Given the description of an element on the screen output the (x, y) to click on. 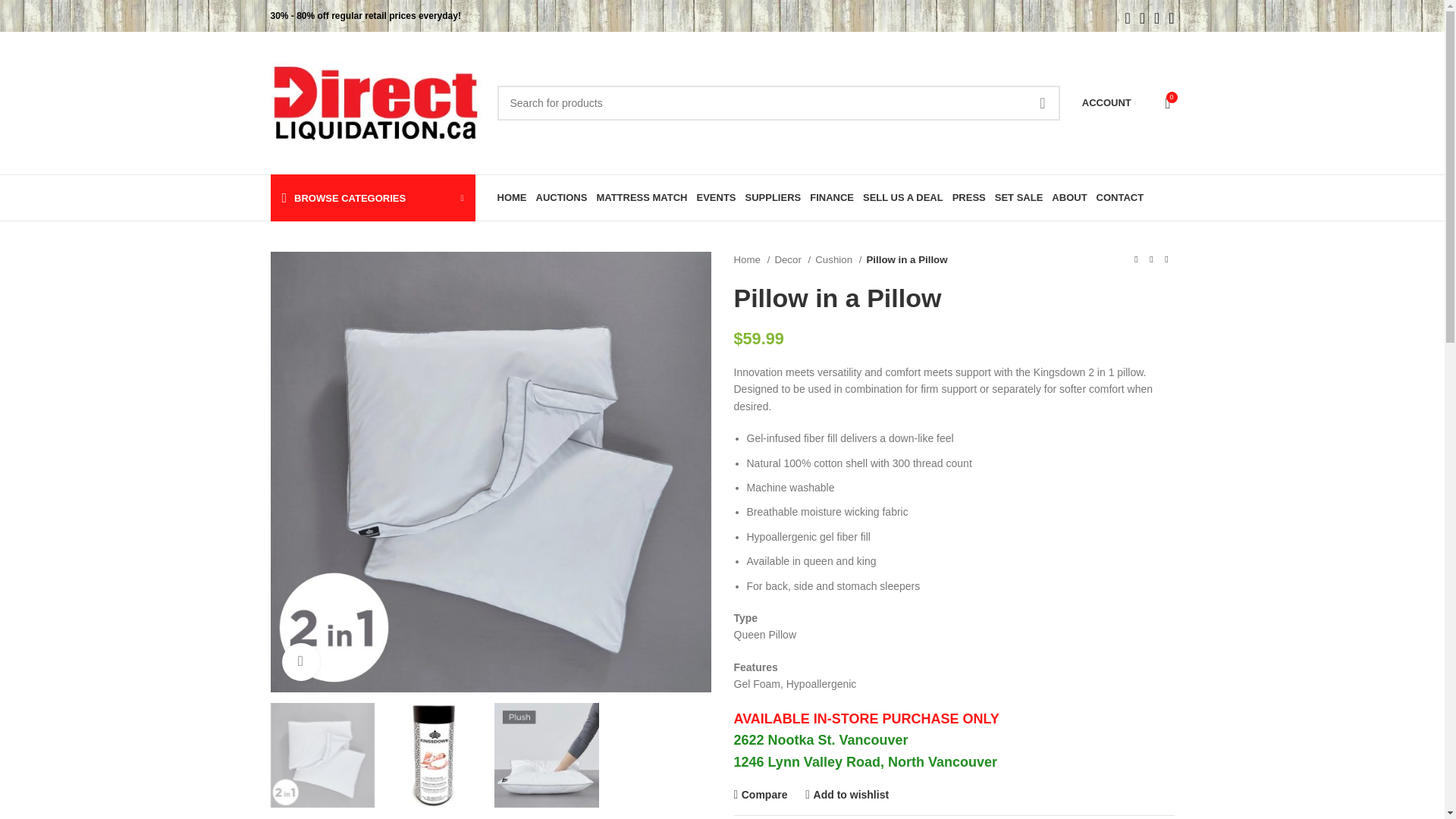
SEARCH (1042, 102)
SUPPLIERS (772, 197)
MATTRESS MATCH (641, 197)
SELL US A DEAL (902, 197)
SET SALE (1018, 197)
PRESS (969, 197)
HOME (511, 197)
Search for products (778, 102)
FINANCE (832, 197)
